Given the description of an element on the screen output the (x, y) to click on. 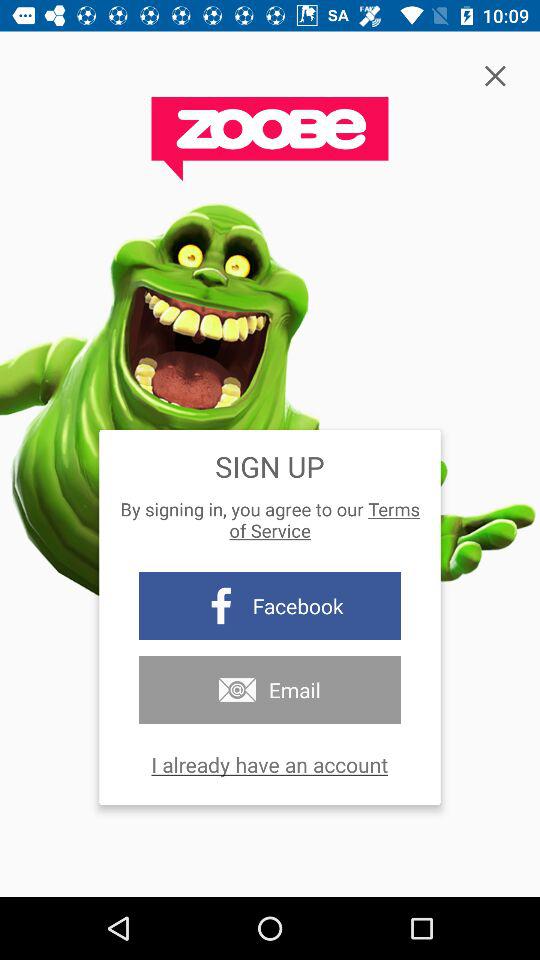
launch the item below sign up item (269, 519)
